Given the description of an element on the screen output the (x, y) to click on. 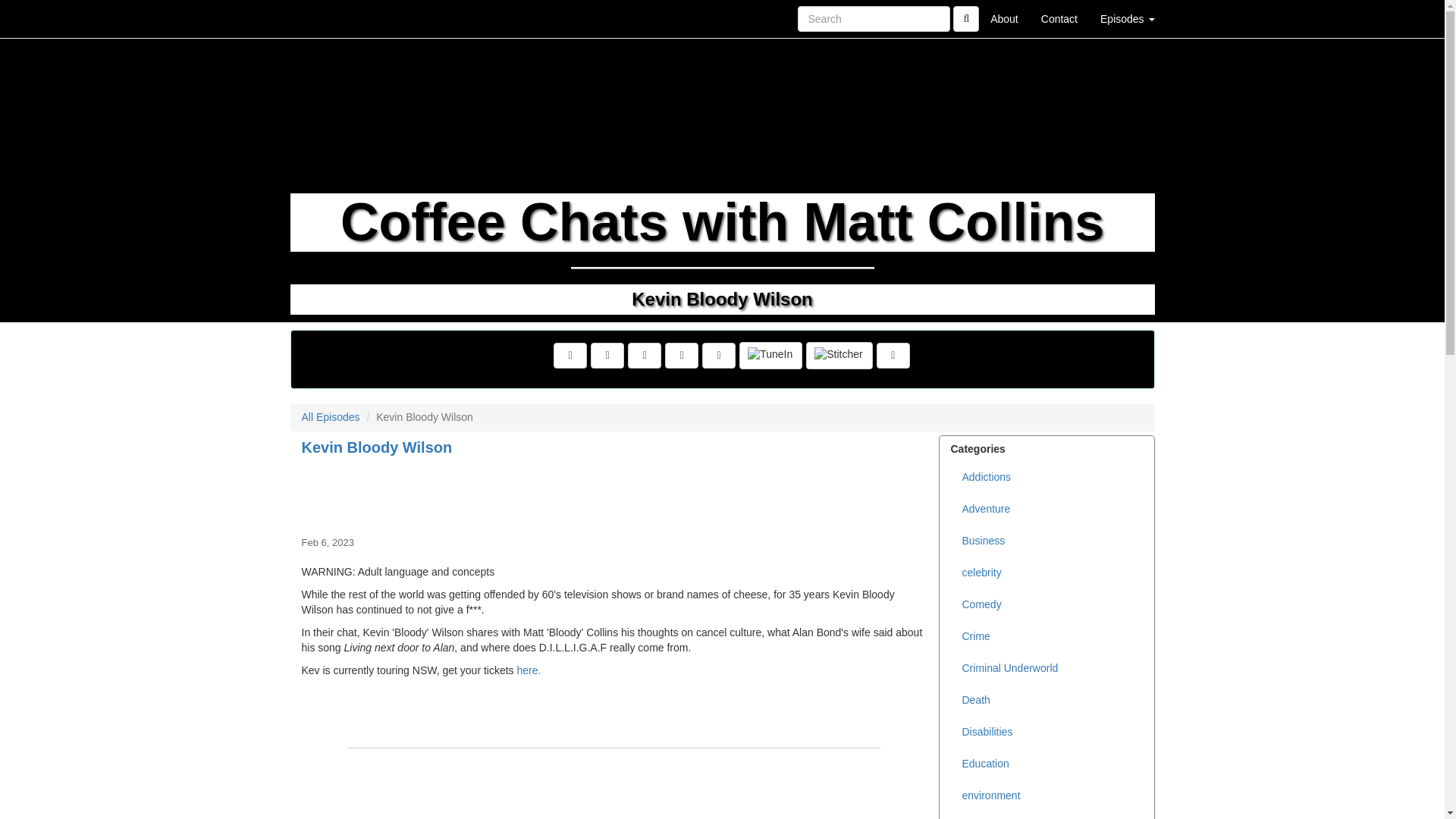
Listen on Apple Podcasts (718, 355)
Episodes (1127, 18)
Email This Podcast (644, 355)
About (1003, 18)
Listen on TuneIn (770, 355)
Listen on Stitcher (839, 355)
Go To YouTube Channel (893, 355)
Visit Us on Facebook (569, 355)
Visit Us on Twitter (607, 355)
Home Page (320, 18)
